Given the description of an element on the screen output the (x, y) to click on. 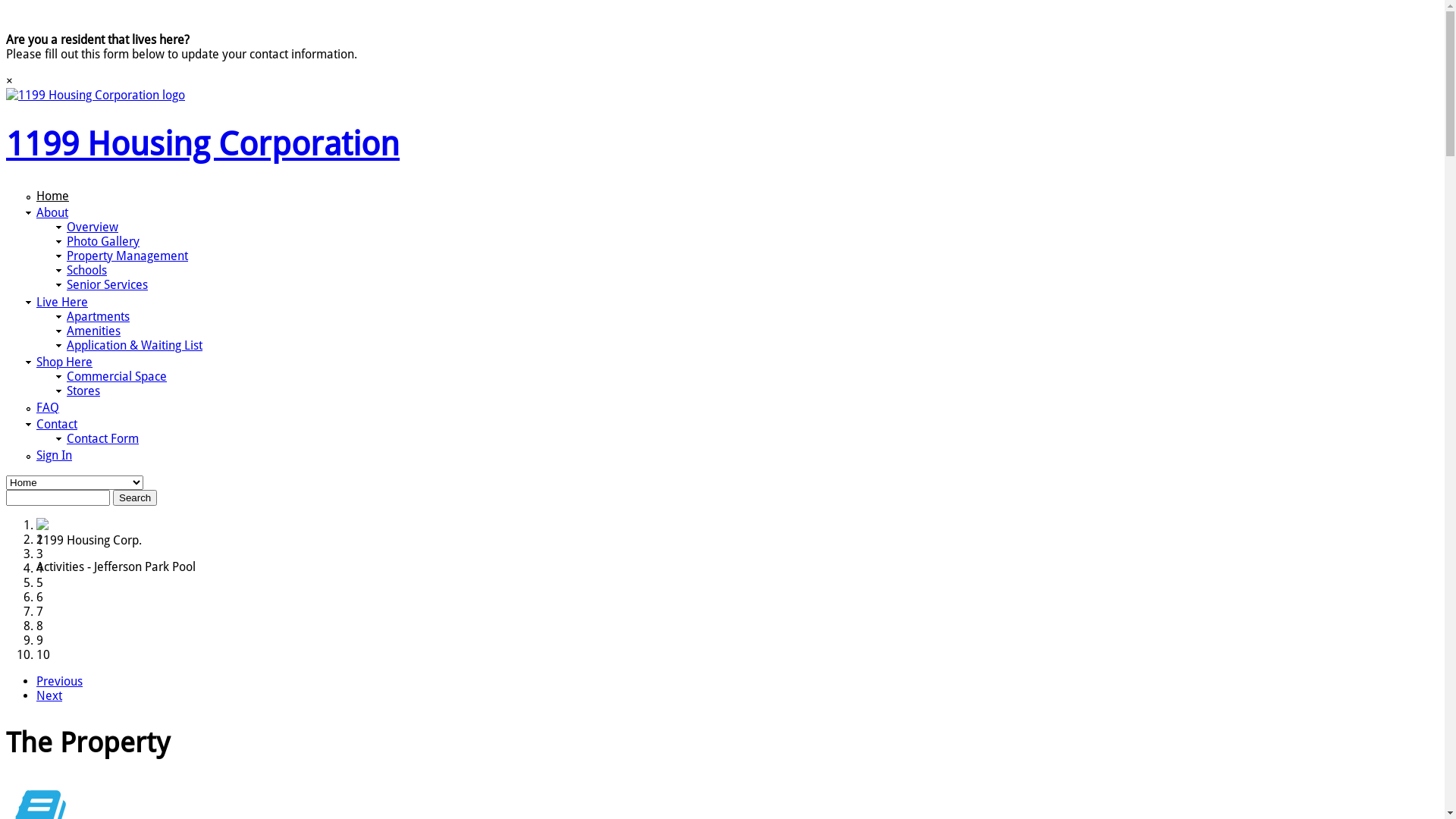
5 Element type: text (39, 582)
Commercial Space Element type: text (116, 376)
1 Element type: text (39, 524)
2 Element type: text (39, 539)
Application & Waiting List Element type: text (134, 345)
Sign In Element type: text (54, 455)
Contact Form Element type: text (102, 438)
Previous Element type: text (59, 681)
Home Element type: text (52, 195)
Shop Here Element type: text (64, 361)
9 Element type: text (39, 640)
Stores Element type: text (83, 390)
7 Element type: text (39, 611)
8 Element type: text (39, 625)
Schools Element type: text (86, 270)
4 Element type: text (39, 568)
Enter the terms you wish to search for. Element type: hover (57, 497)
About Element type: text (52, 212)
Amenities Element type: text (93, 330)
1199 Housing Corporation Element type: text (202, 143)
Photo Gallery Element type: text (102, 241)
1199 Housing Corporation Home Element type: hover (95, 94)
Search Element type: text (134, 497)
Live Here Element type: text (61, 301)
Property Management Element type: text (127, 255)
Senior Services Element type: text (106, 284)
Overview Element type: text (92, 226)
Contact Element type: text (56, 424)
6 Element type: text (39, 596)
10 Element type: text (43, 654)
Next Element type: text (49, 695)
Apartments Element type: text (97, 316)
FAQ Element type: text (47, 407)
Skip to main content Element type: text (60, 6)
3 Element type: text (39, 553)
